Given the description of an element on the screen output the (x, y) to click on. 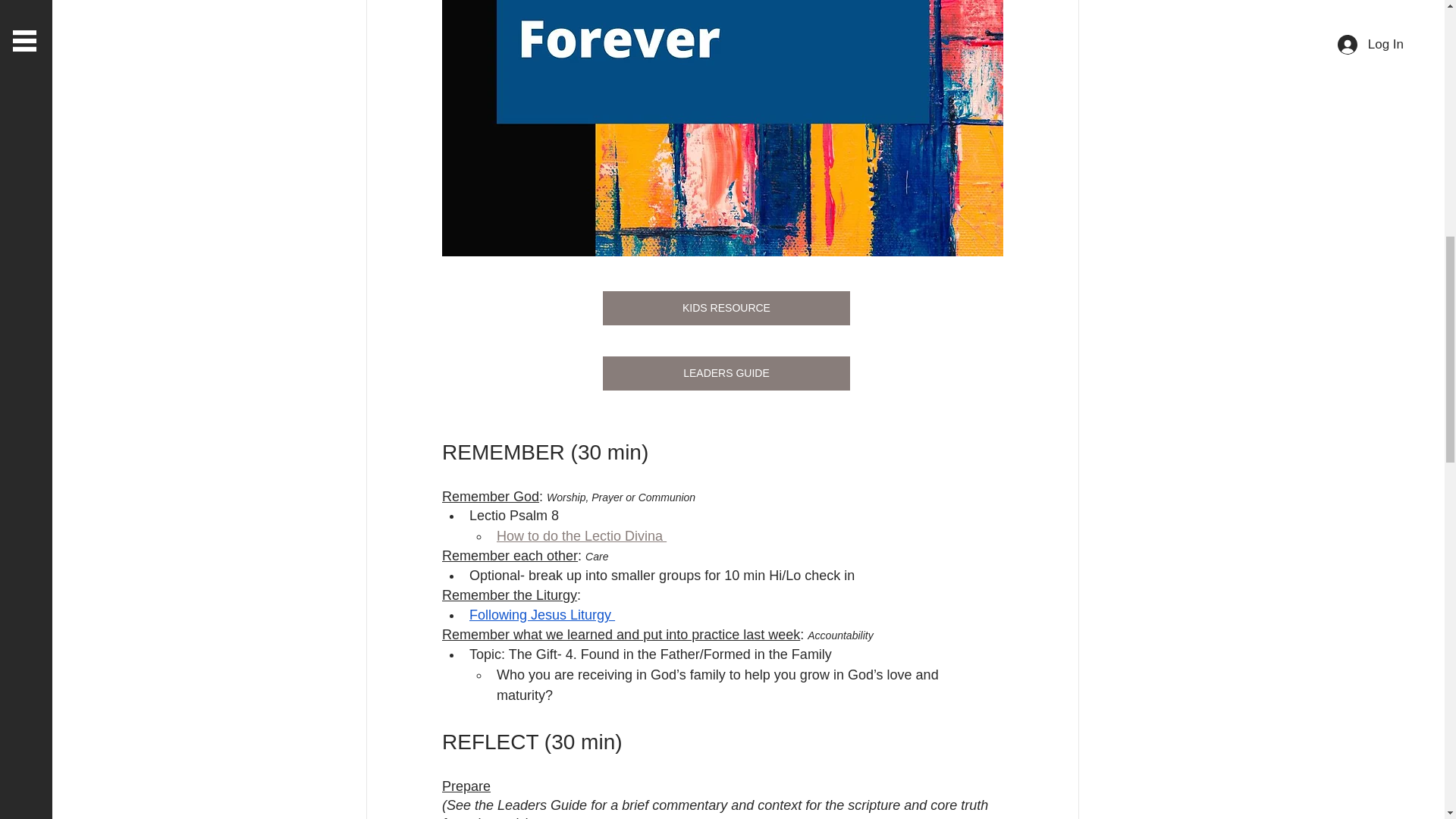
Following Jesus Liturgy  (541, 614)
How to do the Lectio Divina  (580, 535)
LEADERS GUIDE (725, 373)
KIDS RESOURCE (725, 308)
